Given the description of an element on the screen output the (x, y) to click on. 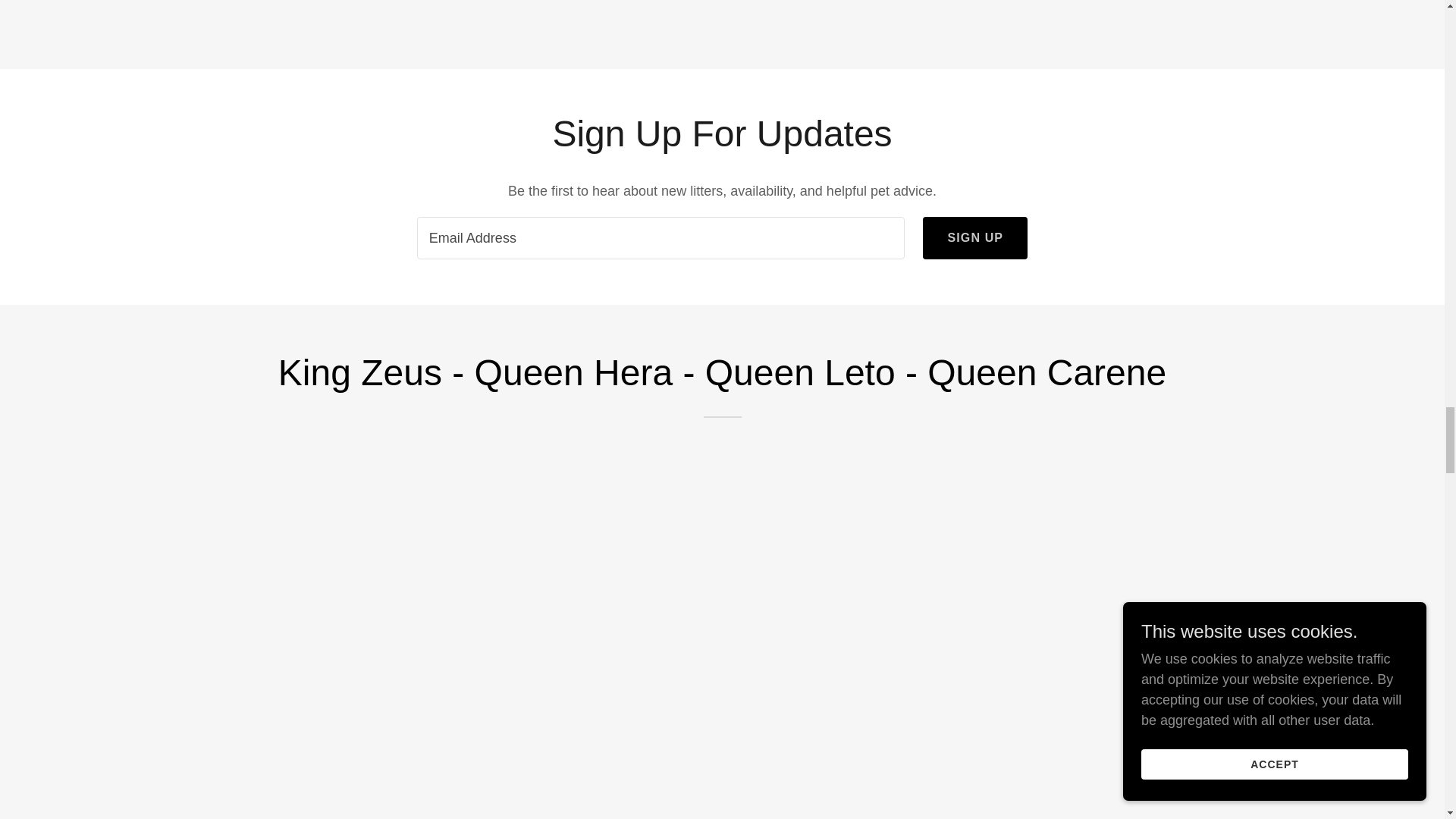
SIGN UP (975, 238)
